Given the description of an element on the screen output the (x, y) to click on. 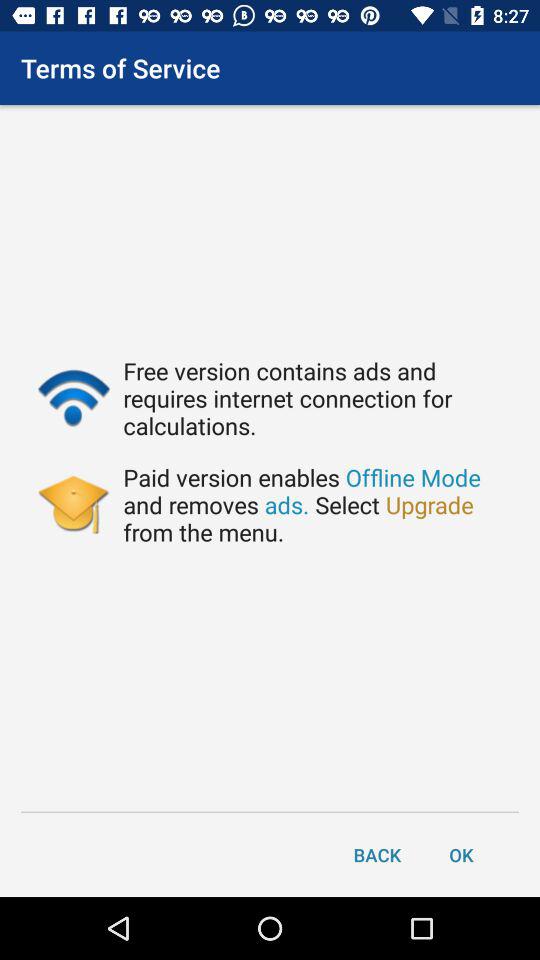
jump until the back item (377, 854)
